Given the description of an element on the screen output the (x, y) to click on. 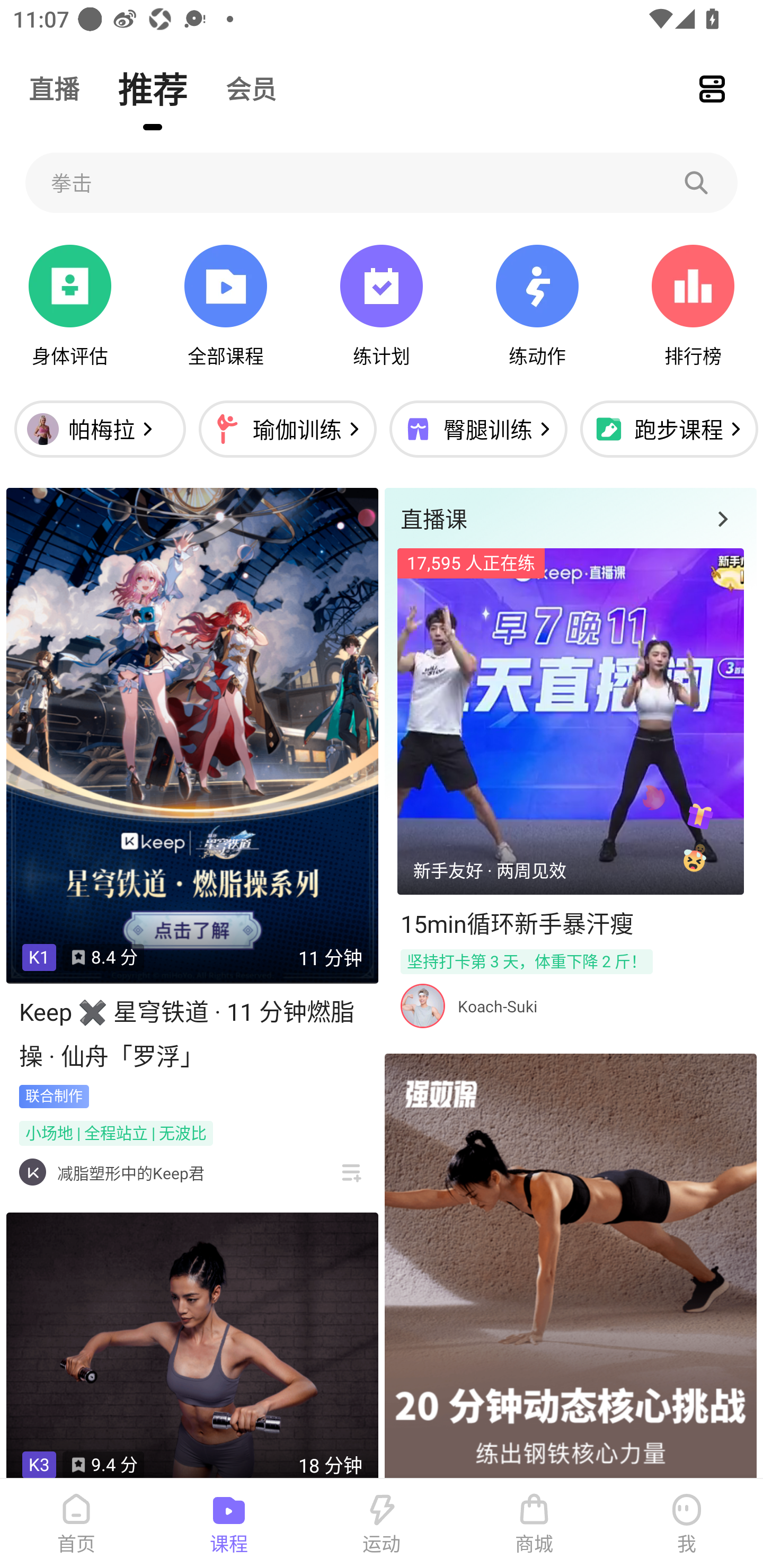
直播 (53, 88)
推荐 (152, 88)
会员 (251, 88)
拳击 (381, 182)
身体评估 (69, 306)
全部课程 (225, 306)
练计划 (381, 306)
练动作 (537, 306)
排行榜 (692, 306)
帕梅拉 更多 (100, 428)
瑜伽训练 更多 (287, 428)
臀腿训练 更多 (478, 428)
跑步课程 更多 (666, 428)
直播课 (570, 517)
Koach-Suki (497, 1006)
减脂塑形中的Keep君 (130, 1172)
K3 9.4 分 18 分钟 (192, 1345)
首页 (76, 1523)
课程 (228, 1523)
运动 (381, 1523)
商城 (533, 1523)
我 (686, 1523)
